Given the description of an element on the screen output the (x, y) to click on. 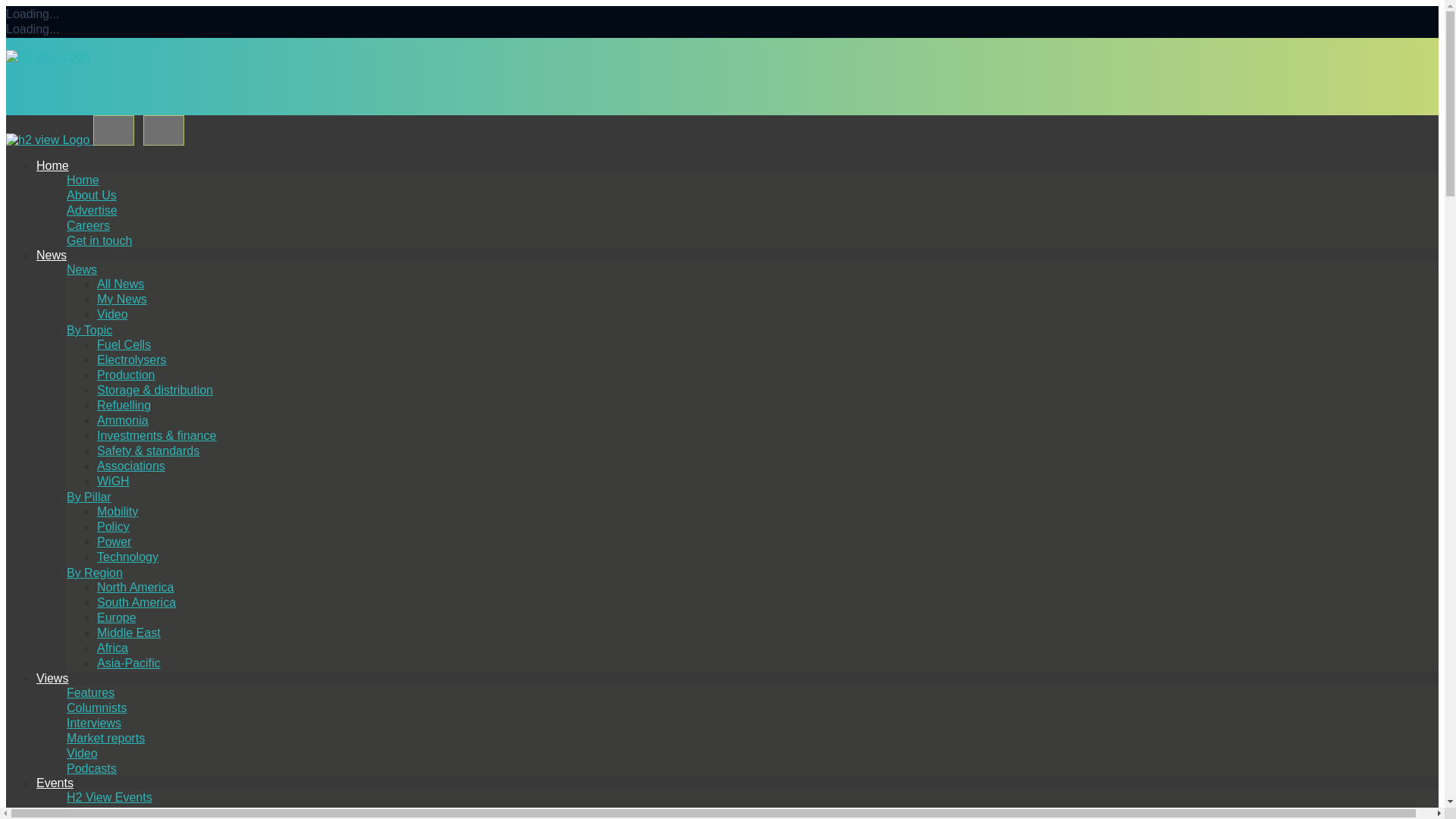
H2 View (46, 56)
Ammonia (122, 420)
News (51, 254)
Fuel Cells (124, 344)
About Us (91, 195)
Home (52, 164)
Electrolysers (132, 359)
Home (82, 179)
Get in touch (99, 240)
Africa (112, 647)
